Given the description of an element on the screen output the (x, y) to click on. 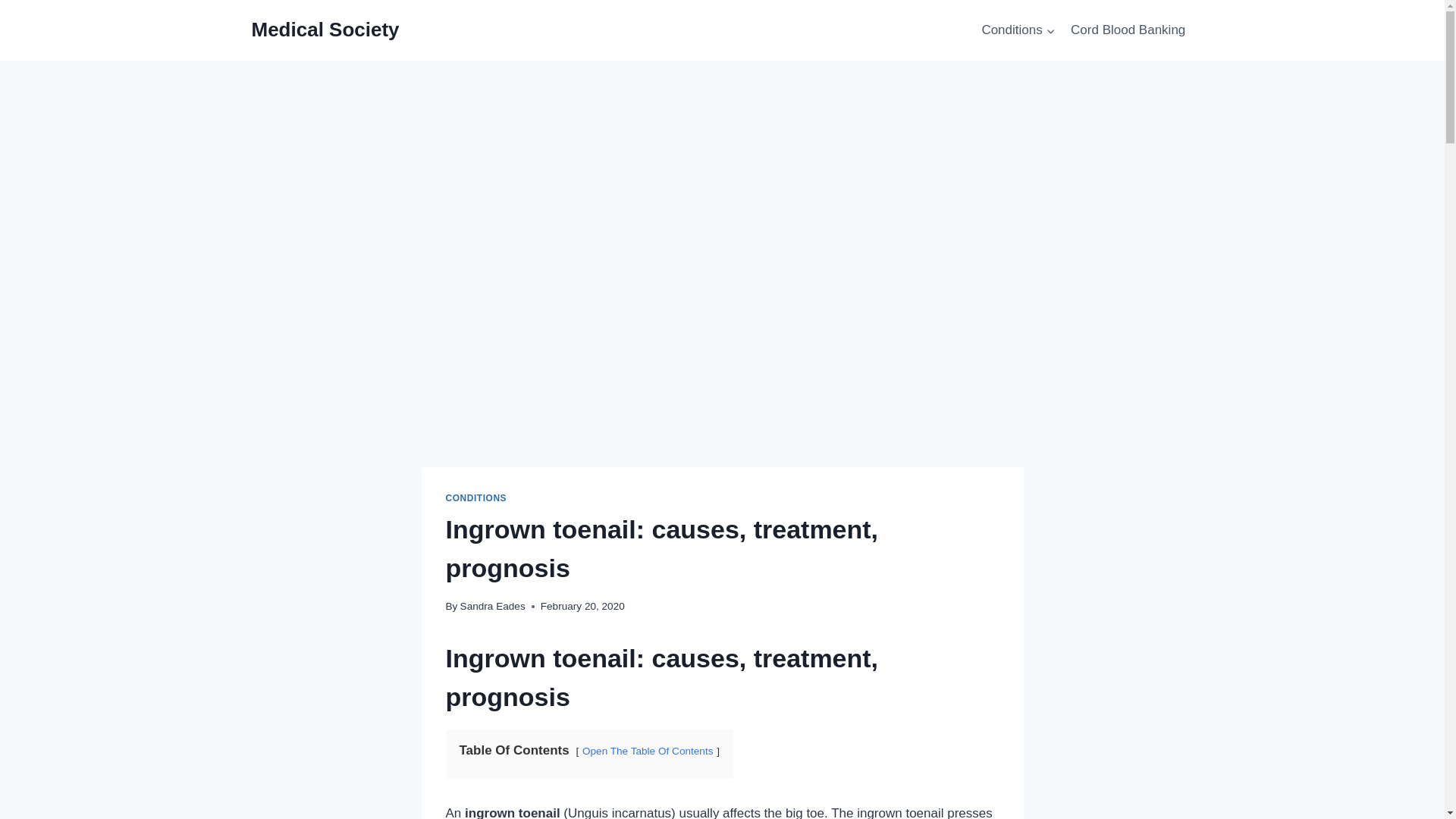
CONDITIONS (475, 498)
Open The Table Of Contents (647, 750)
Cord Blood Banking (1127, 30)
Conditions (1018, 30)
Medical Society (324, 29)
Sandra Eades (492, 605)
